Given the description of an element on the screen output the (x, y) to click on. 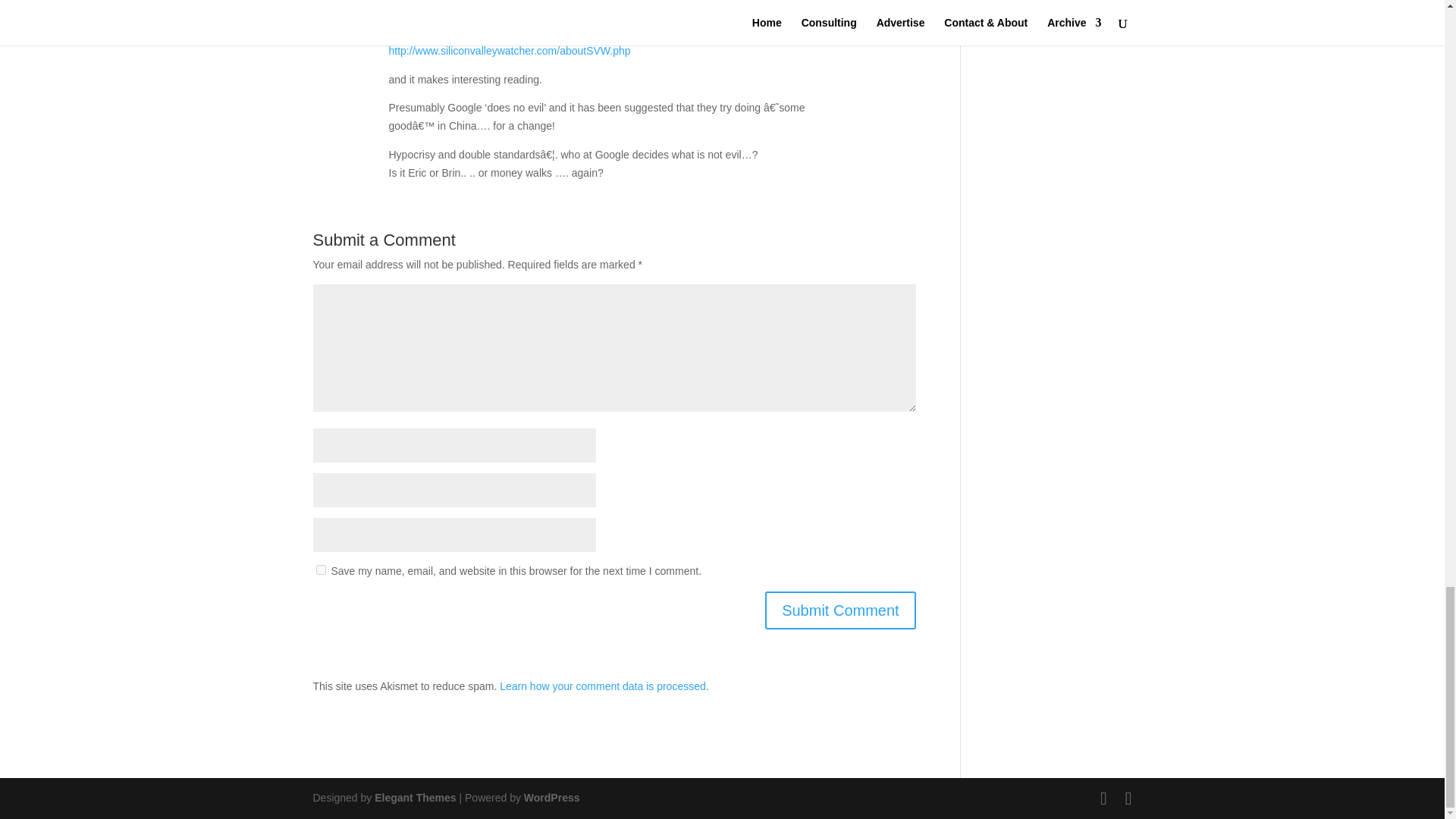
Submit Comment (840, 610)
Premium WordPress Themes (414, 797)
yes (319, 569)
Learn how your comment data is processed (602, 686)
Submit Comment (840, 610)
